Given the description of an element on the screen output the (x, y) to click on. 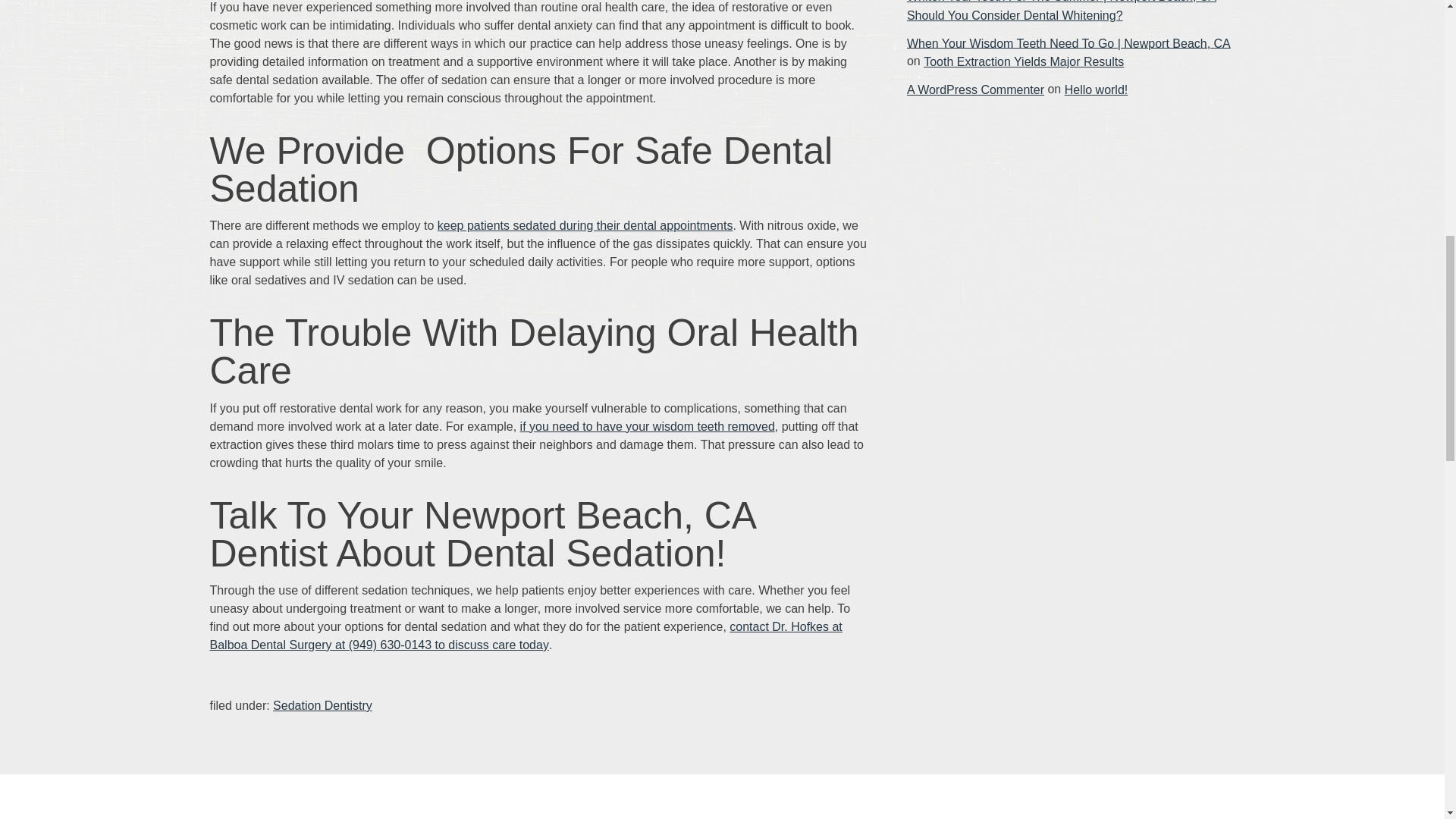
keep patients sedated during their dental appointments (585, 225)
